Given the description of an element on the screen output the (x, y) to click on. 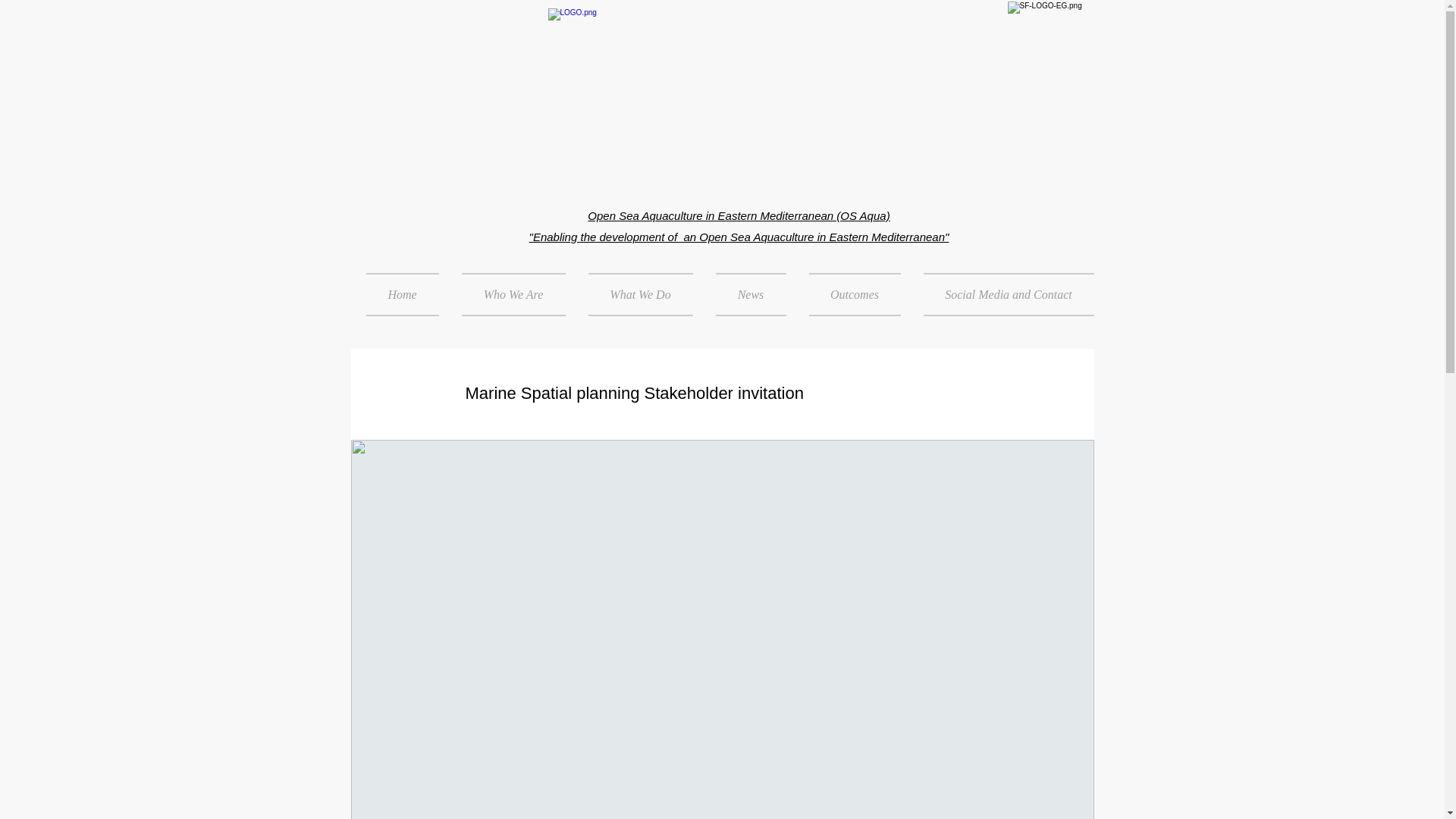
Home (407, 294)
What We Do (639, 294)
Social Media and Contact (1002, 294)
News (749, 294)
Who We Are (512, 294)
